Given the description of an element on the screen output the (x, y) to click on. 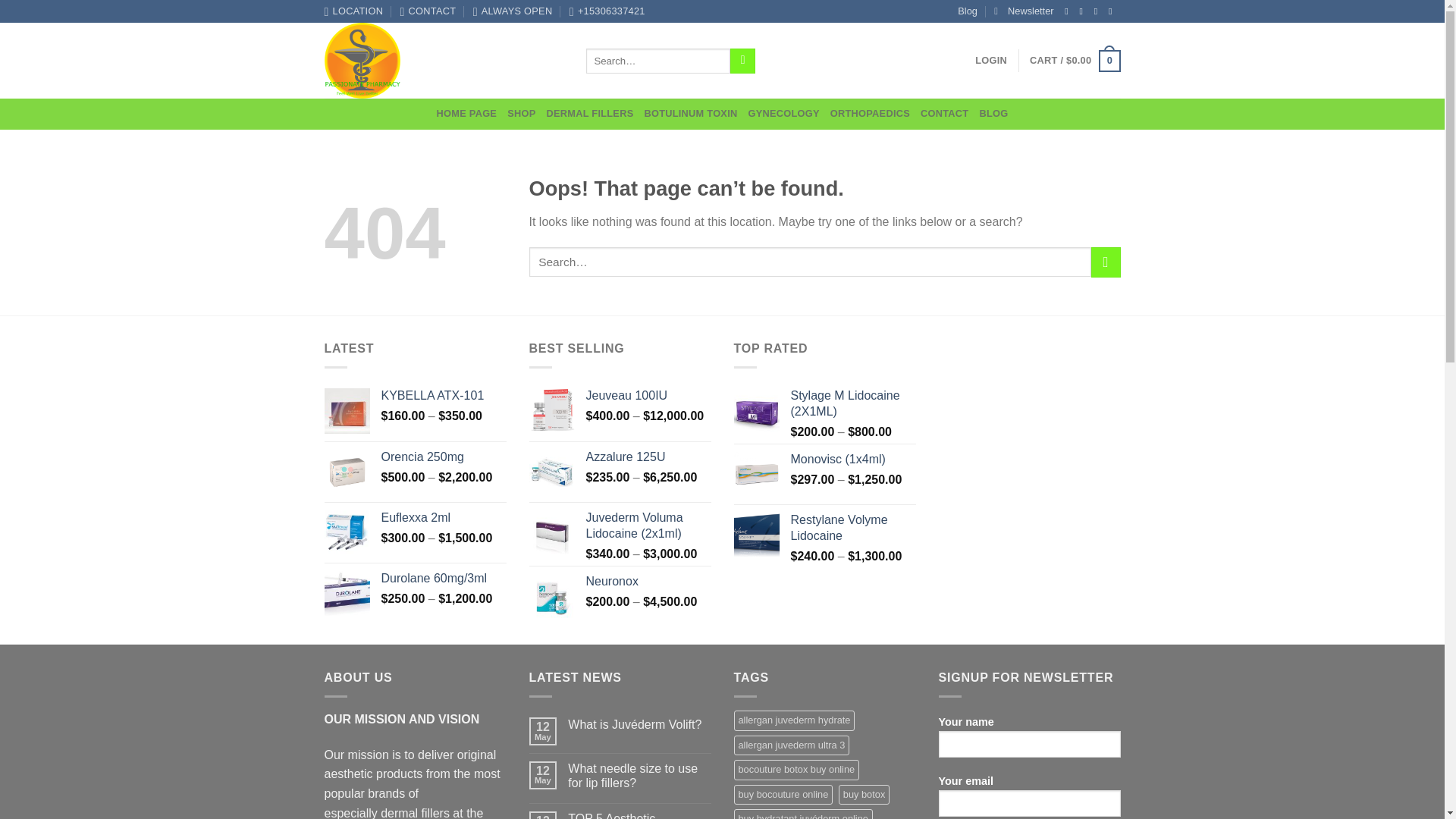
SHOP (520, 113)
BLOG (992, 113)
DERMAL FILLERS (589, 113)
Azzalure 125U (647, 457)
ORTHOPAEDICS (869, 113)
HOME PAGE (466, 113)
Jeuveau 100IU (647, 396)
Neuronox (647, 581)
Search (742, 61)
ALWAYS OPEN (513, 11)
